Given the description of an element on the screen output the (x, y) to click on. 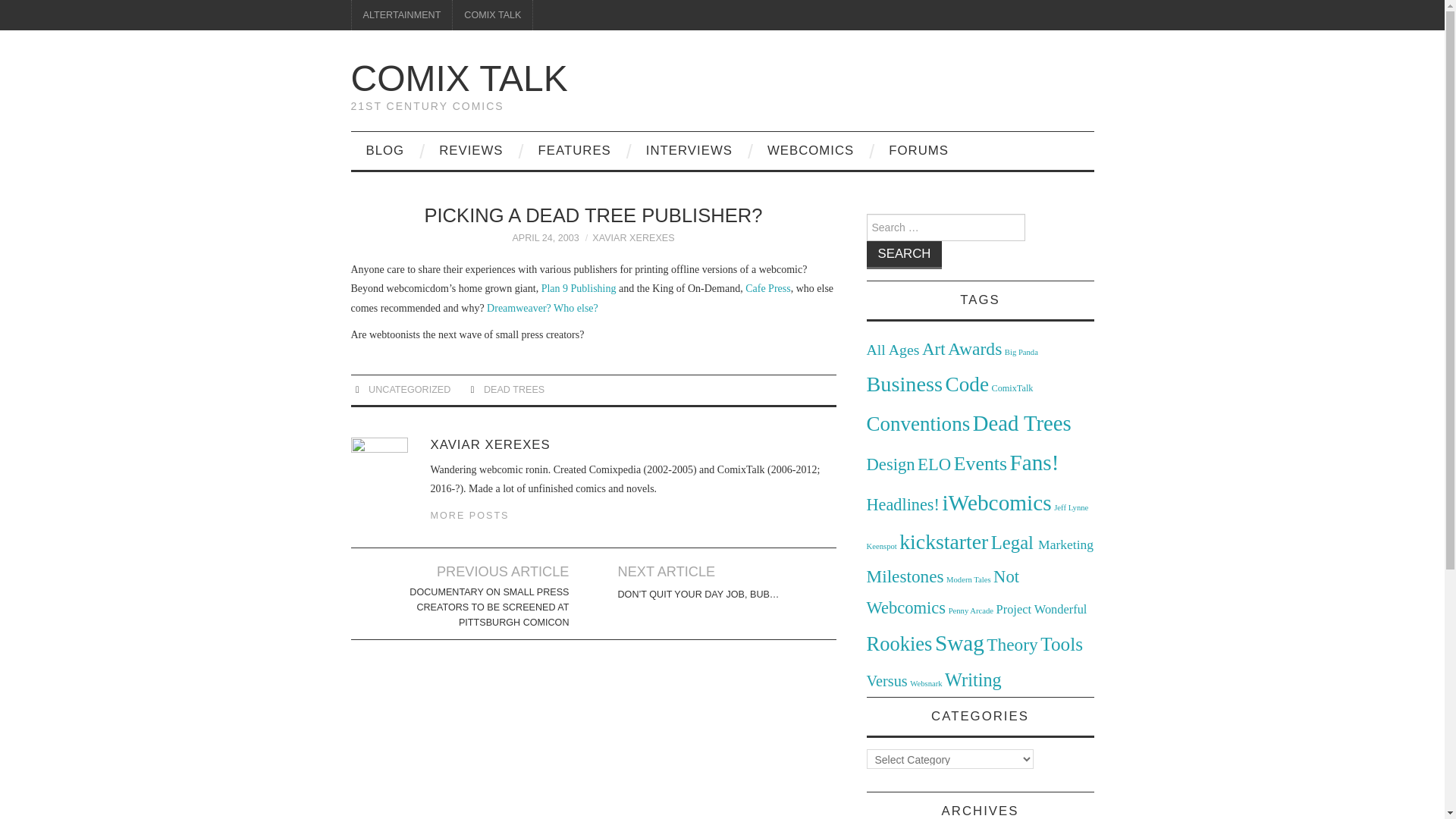
Code (966, 384)
ComixTalk (1012, 388)
Search (904, 254)
FEATURES (574, 150)
COMIX TALK (458, 78)
INTERVIEWS (689, 150)
XAVIAR XEREXES (633, 237)
Awards (974, 348)
Dead Trees (1021, 422)
Who else? (575, 307)
